Given the description of an element on the screen output the (x, y) to click on. 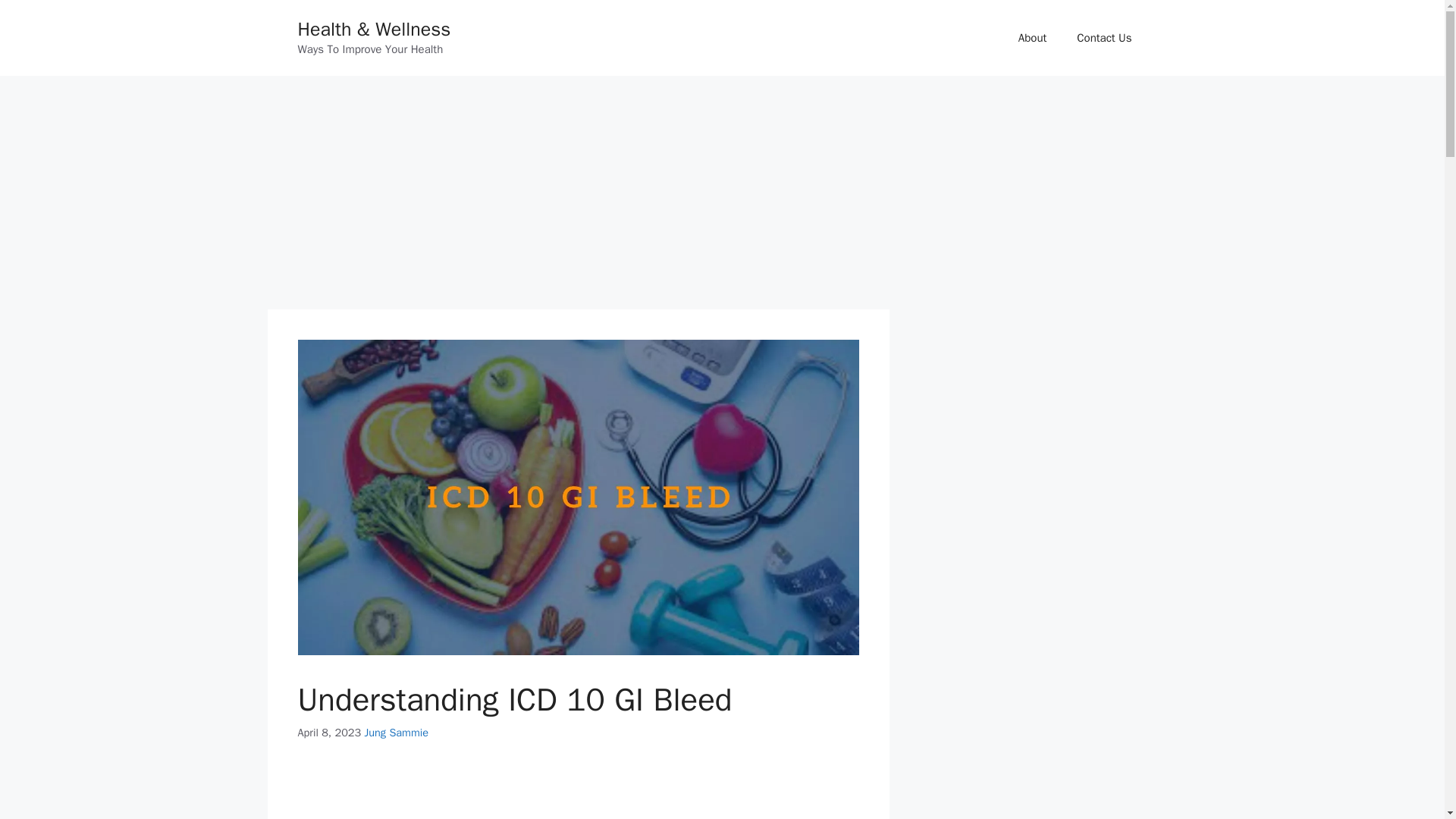
Jung Sammie (396, 732)
About (1032, 37)
Contact Us (1104, 37)
Advertisement (577, 196)
Advertisement (578, 793)
Jung Sammie (396, 732)
